Given the description of an element on the screen output the (x, y) to click on. 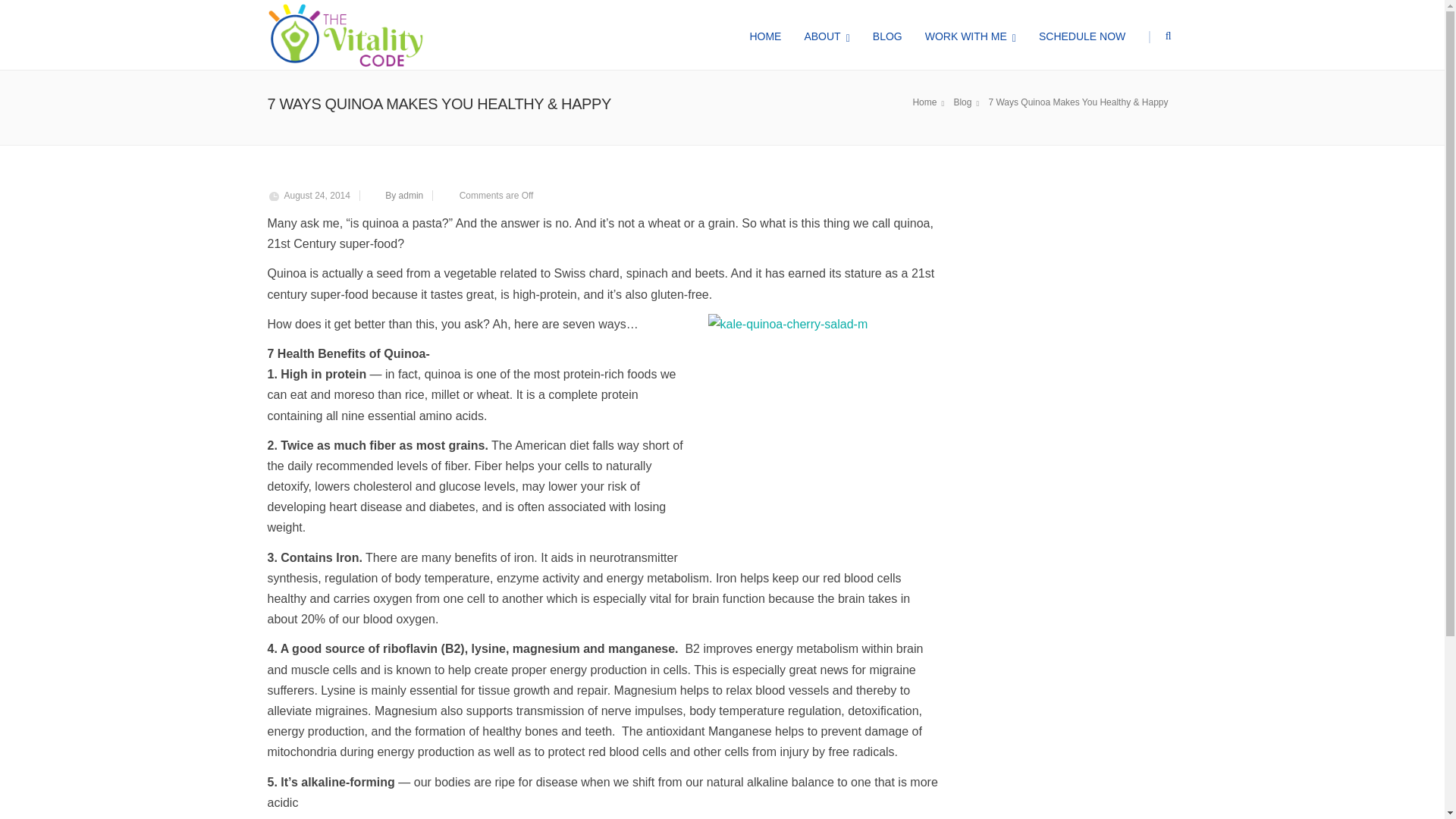
ABOUT (826, 34)
WORK WITH ME (970, 34)
By admin (404, 195)
Home (930, 102)
Blog (968, 102)
Start with a Free 30-Minute Consultation (361, 652)
Get Personal 1:1 Coaching (330, 631)
SCHEDULE NOW (1082, 34)
